Given the description of an element on the screen output the (x, y) to click on. 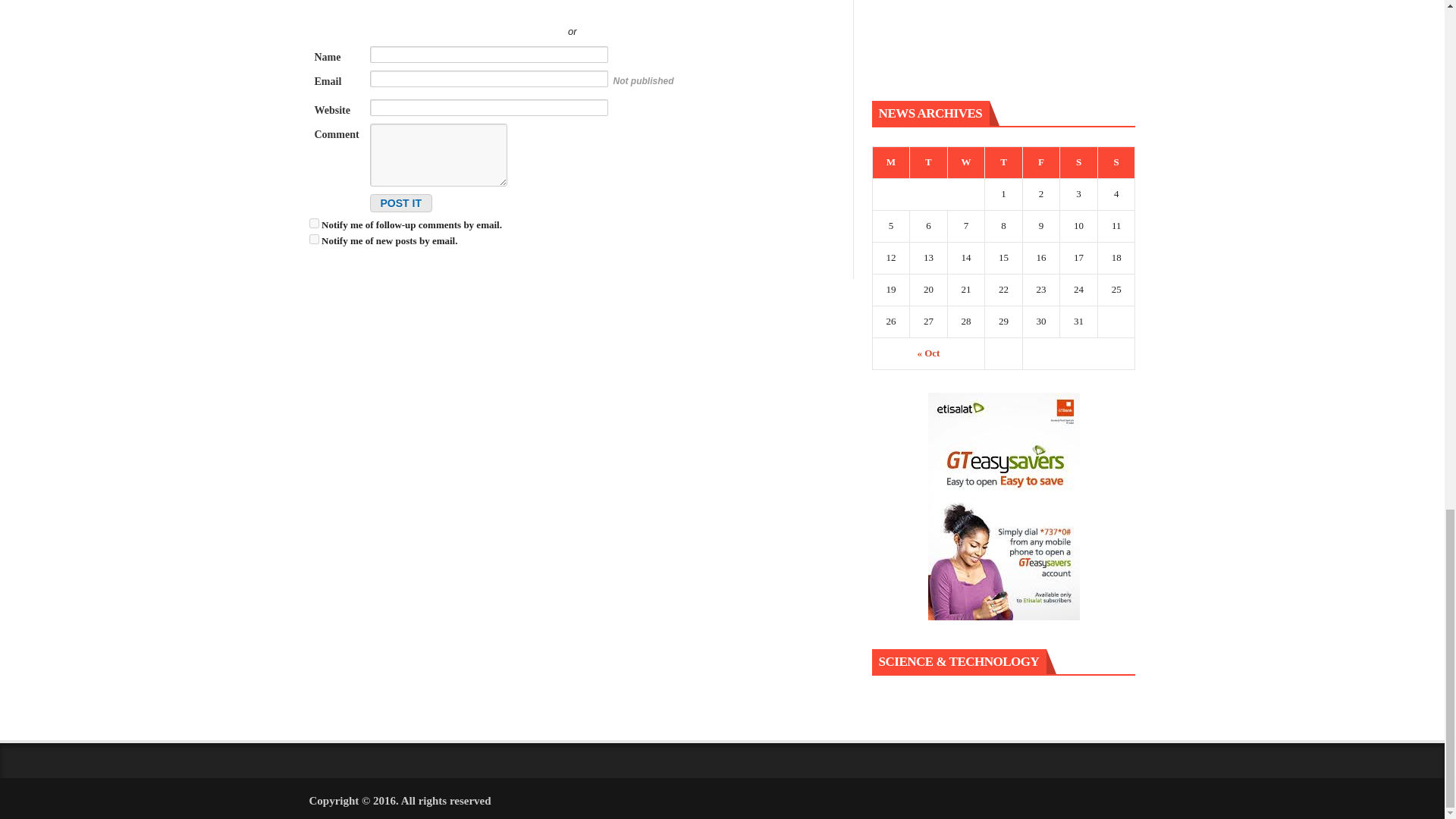
Tuesday (928, 163)
subscribe (313, 223)
Post It (400, 203)
Wednesday (966, 163)
subscribe (313, 239)
Monday (891, 163)
